Given the description of an element on the screen output the (x, y) to click on. 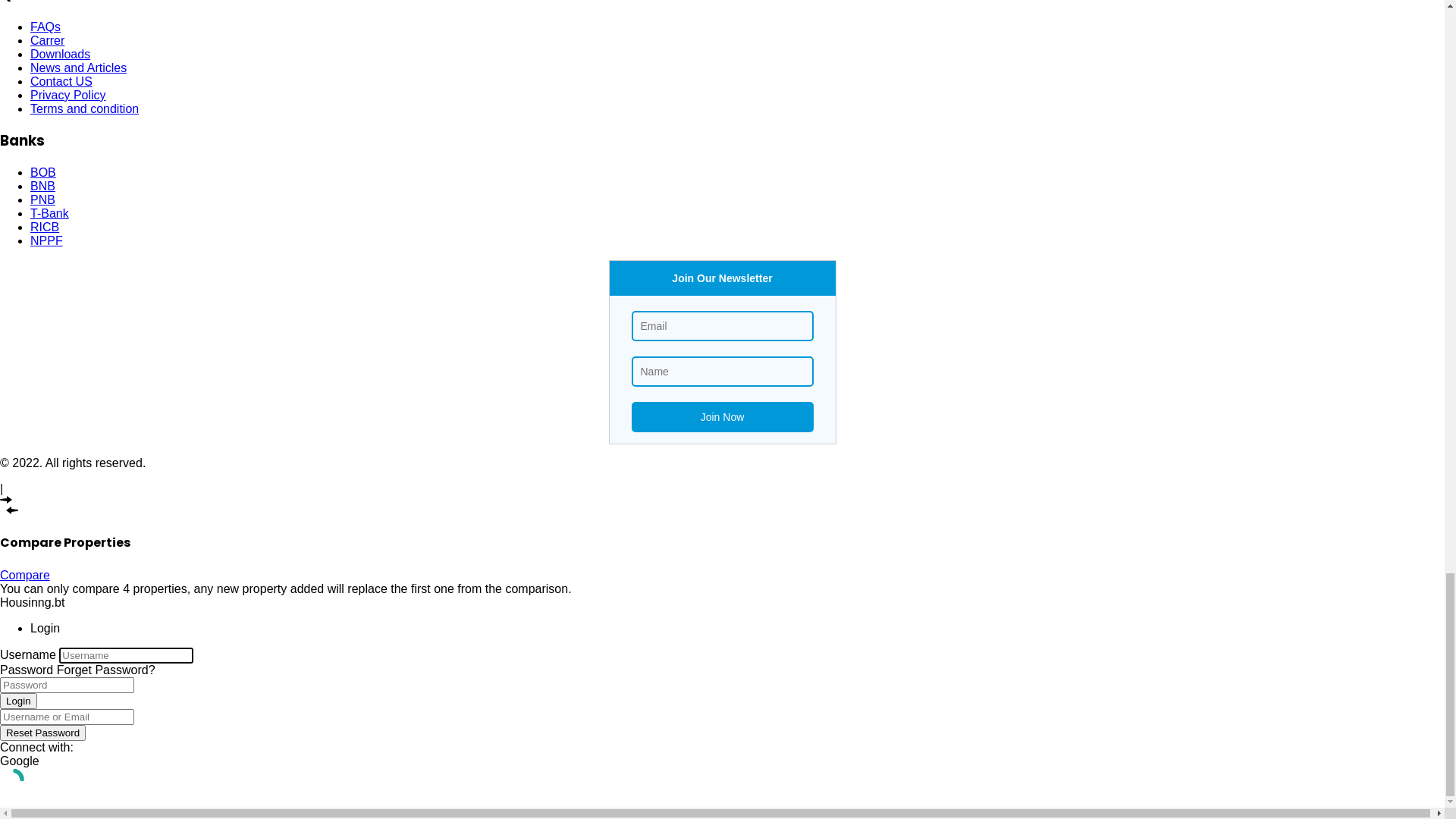
Services Element type: text (53, 407)
Cad Map Element type: text (84, 245)
Housinng.bt Element type: hover (56, 332)
Sell Your Property Element type: text (722, 746)
Our Story Element type: text (55, 218)
Check Property > Element type: text (722, 610)
Urban Zhabtog Element type: text (100, 112)
Cad Map Element type: text (84, 85)
Contact Us Element type: text (60, 300)
Urban Zhabtog Element type: text (100, 448)
Contact Us Element type: text (60, 475)
e-Genja Element type: text (81, 259)
Services Element type: text (53, 71)
Post Buy Requirement Element type: text (722, 645)
e-Genja Element type: text (81, 434)
e-Genja Element type: text (81, 99)
click here to Enter Details > Element type: text (721, 712)
Urban Zhabtog Element type: text (100, 272)
Property NoeTshong Element type: text (115, 286)
Services Element type: text (53, 231)
Property NoeTshong Element type: text (115, 461)
Our Story Element type: text (55, 393)
Cad Map Element type: text (84, 420)
Contact Us Element type: text (60, 140)
Housinng.bt Element type: hover (38, 6)
Properties Element type: text (722, 544)
Housinng.bt Element type: hover (38, 166)
Property NoeTshong Element type: text (115, 126)
Check out varities of properties at housinng.bt Element type: text (722, 579)
Our Story Element type: text (55, 58)
